Given the description of an element on the screen output the (x, y) to click on. 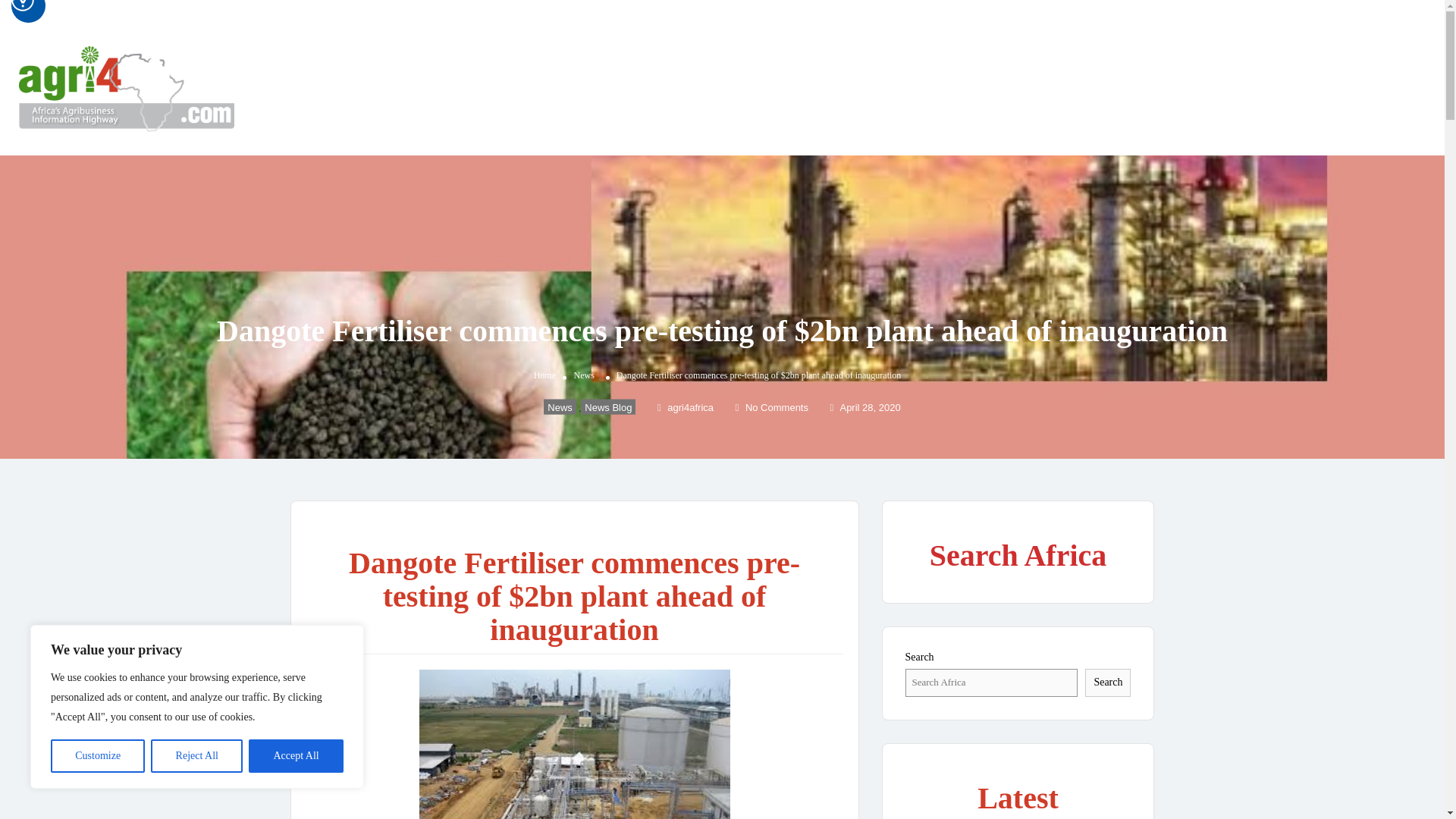
Accept All (295, 756)
Customize (97, 756)
Reject All (197, 756)
